Given the description of an element on the screen output the (x, y) to click on. 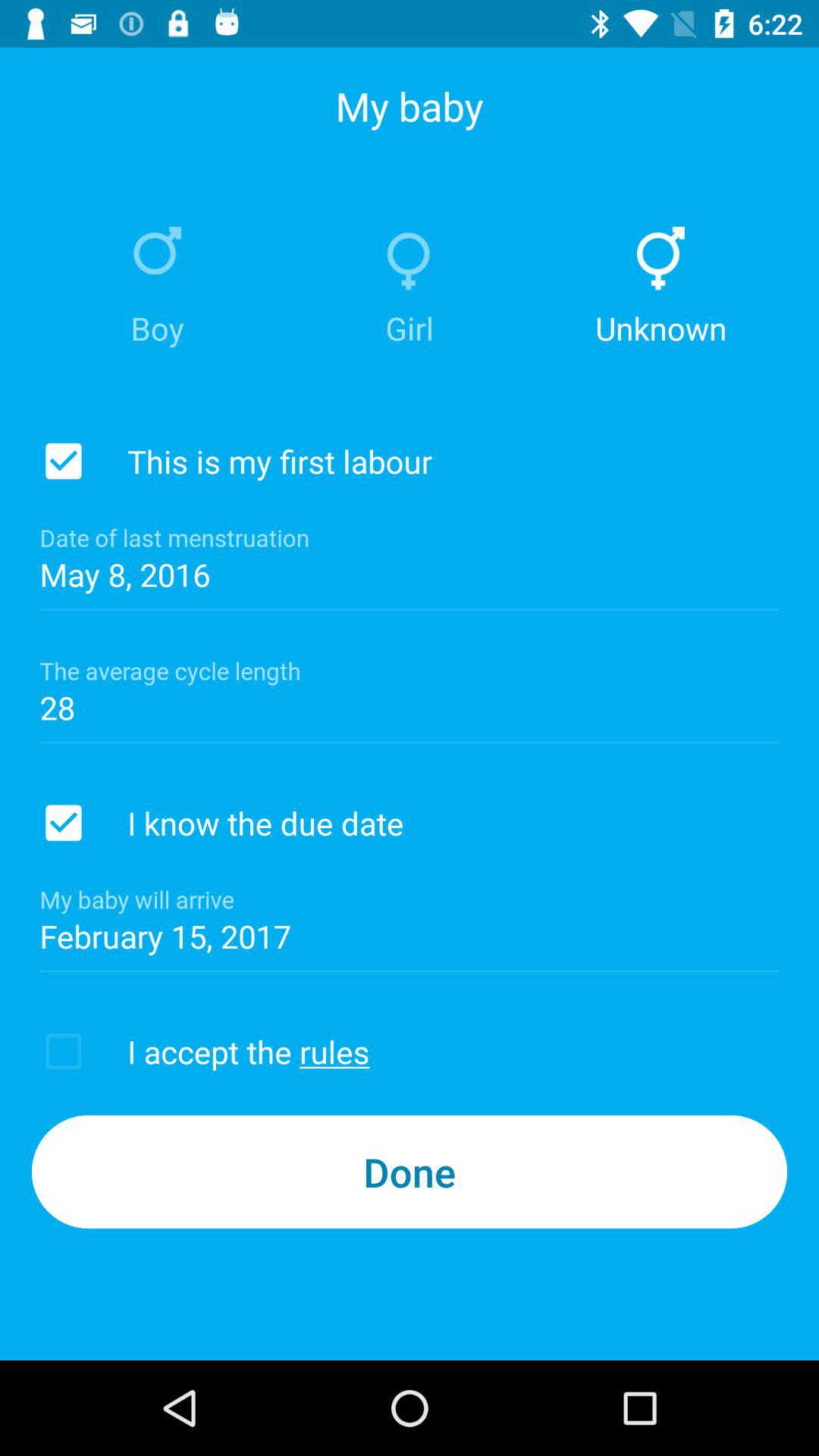
select an option (63, 461)
